Given the description of an element on the screen output the (x, y) to click on. 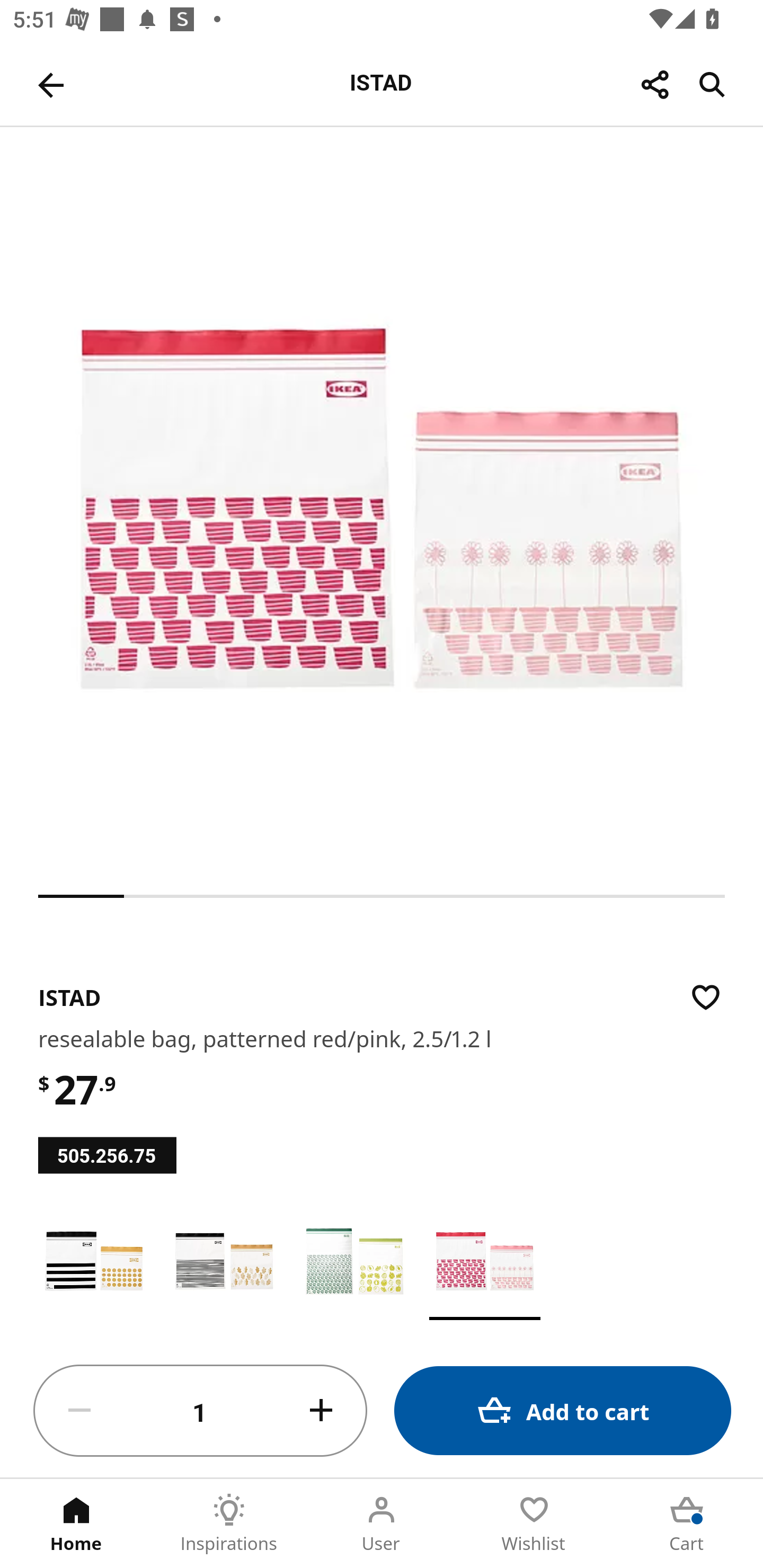
Add to cart (562, 1410)
1 (200, 1411)
Home
Tab 1 of 5 (76, 1522)
Inspirations
Tab 2 of 5 (228, 1522)
User
Tab 3 of 5 (381, 1522)
Wishlist
Tab 4 of 5 (533, 1522)
Cart
Tab 5 of 5 (686, 1522)
